Given the description of an element on the screen output the (x, y) to click on. 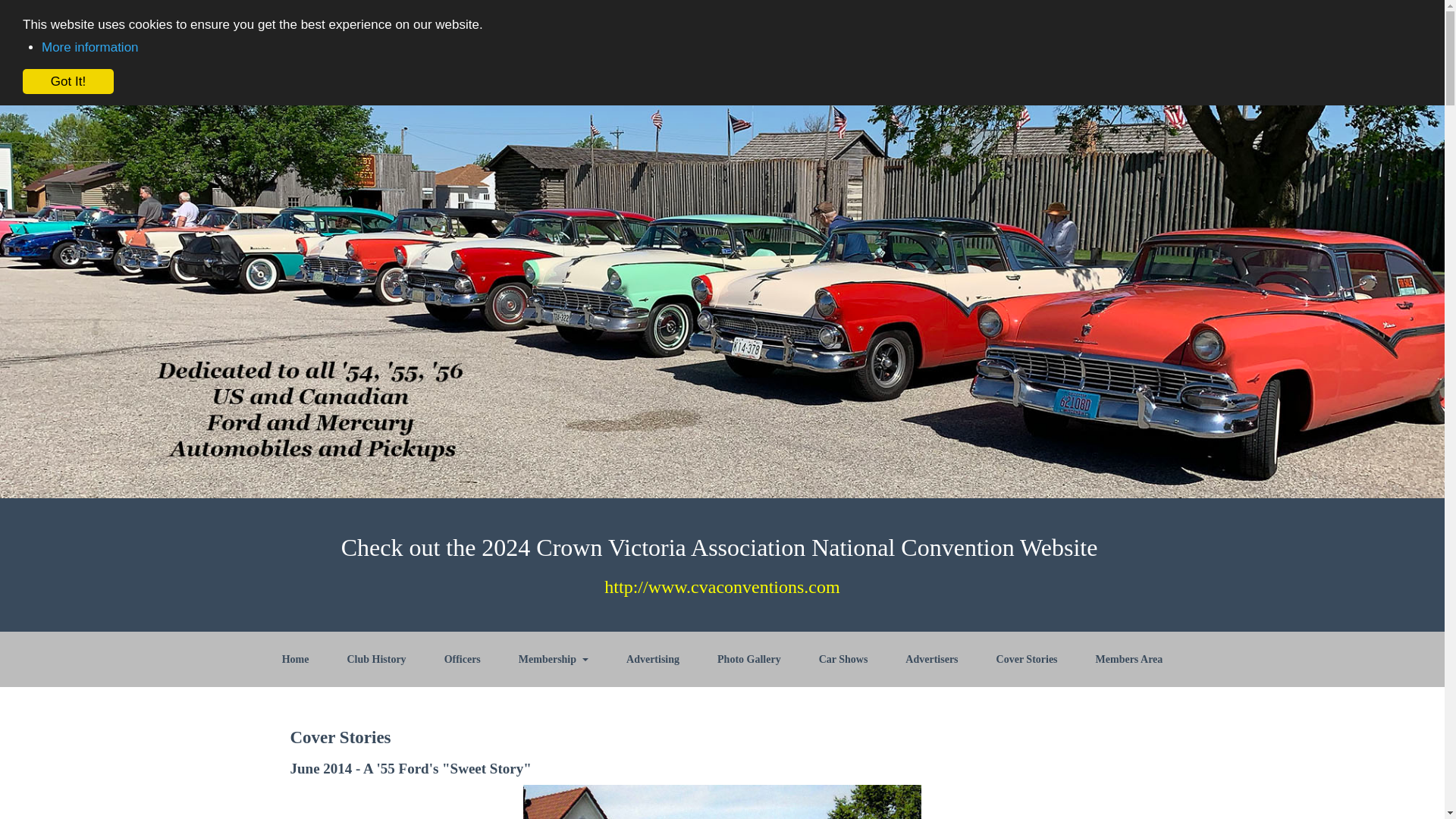
Club History (376, 659)
Home (296, 659)
Officers (462, 659)
Members Area (1129, 659)
Cover Stories (1026, 659)
June 2014 - A '55 Ford's "Sweet Story" (410, 768)
Photo Gallery (748, 659)
Instagram (1108, 27)
Car Shows (842, 659)
Advertising (652, 659)
Got It! (68, 80)
Facebook (1019, 27)
Home (463, 27)
Membership (553, 659)
More information (90, 47)
